Given the description of an element on the screen output the (x, y) to click on. 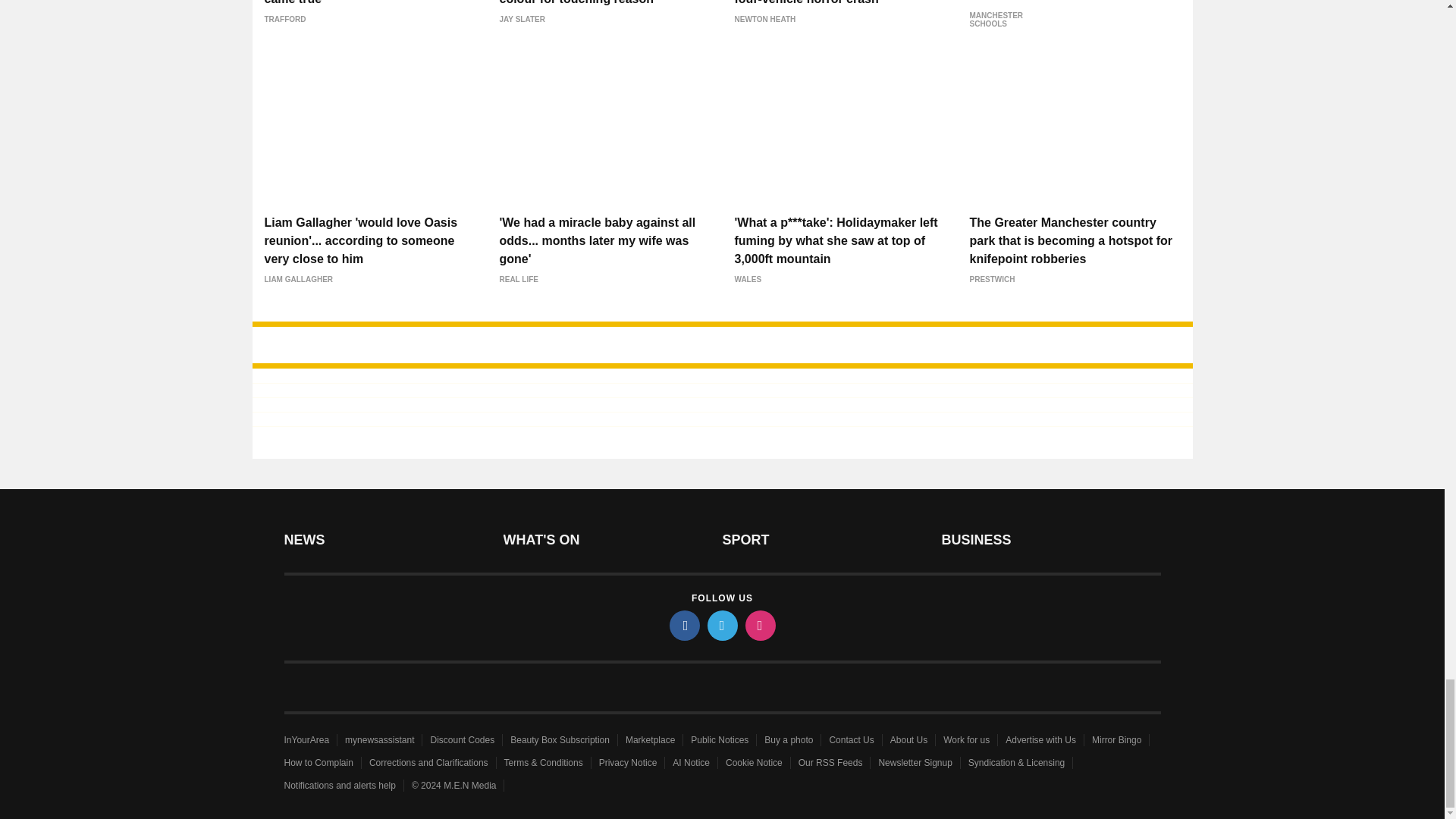
twitter (721, 625)
facebook (683, 625)
instagram (759, 625)
